Given the description of an element on the screen output the (x, y) to click on. 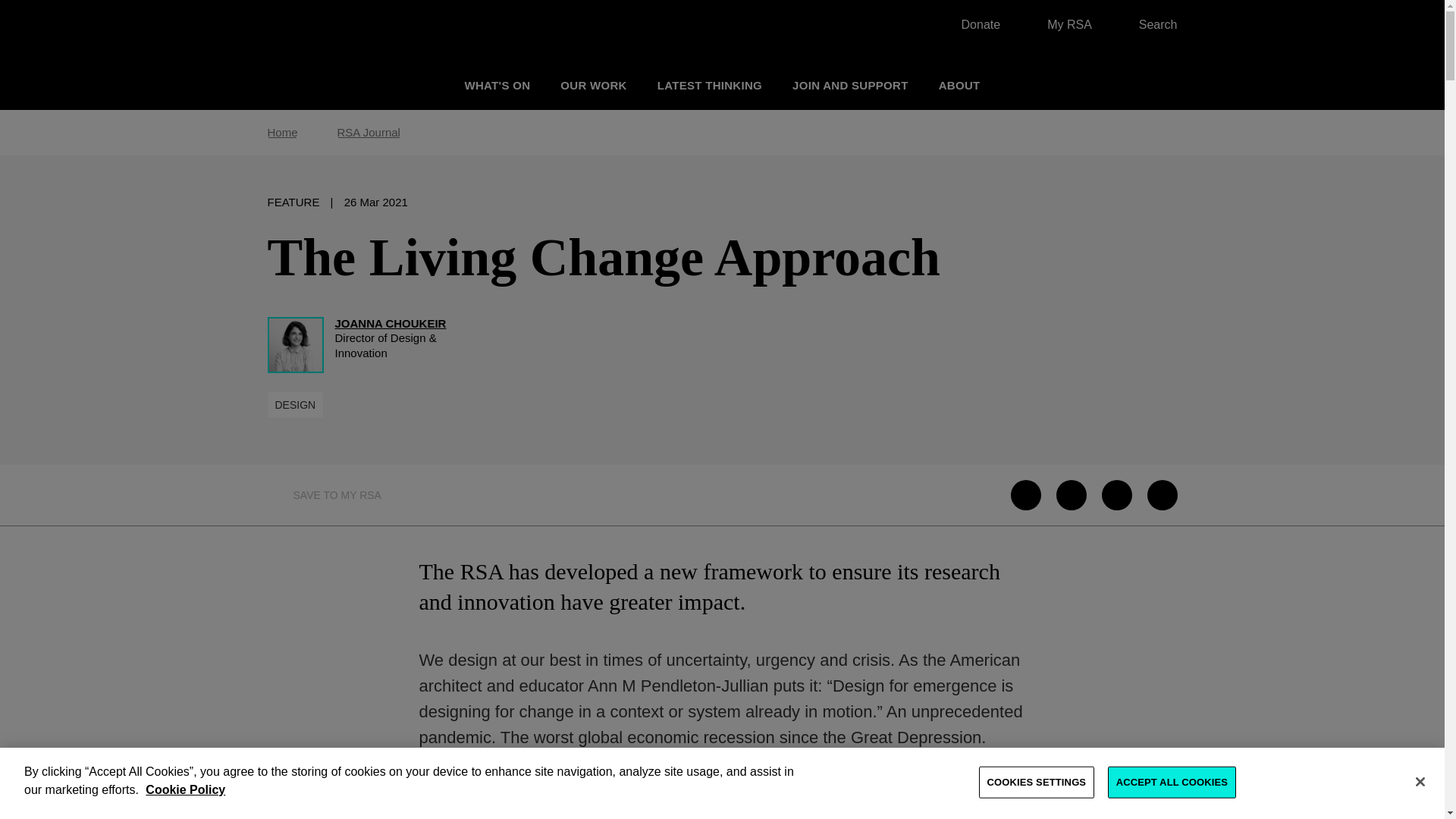
Donate (972, 24)
WHAT'S ON (496, 84)
My RSA (1061, 24)
LATEST THINKING (709, 84)
OUR WORK (593, 84)
Search (1149, 24)
